Given the description of an element on the screen output the (x, y) to click on. 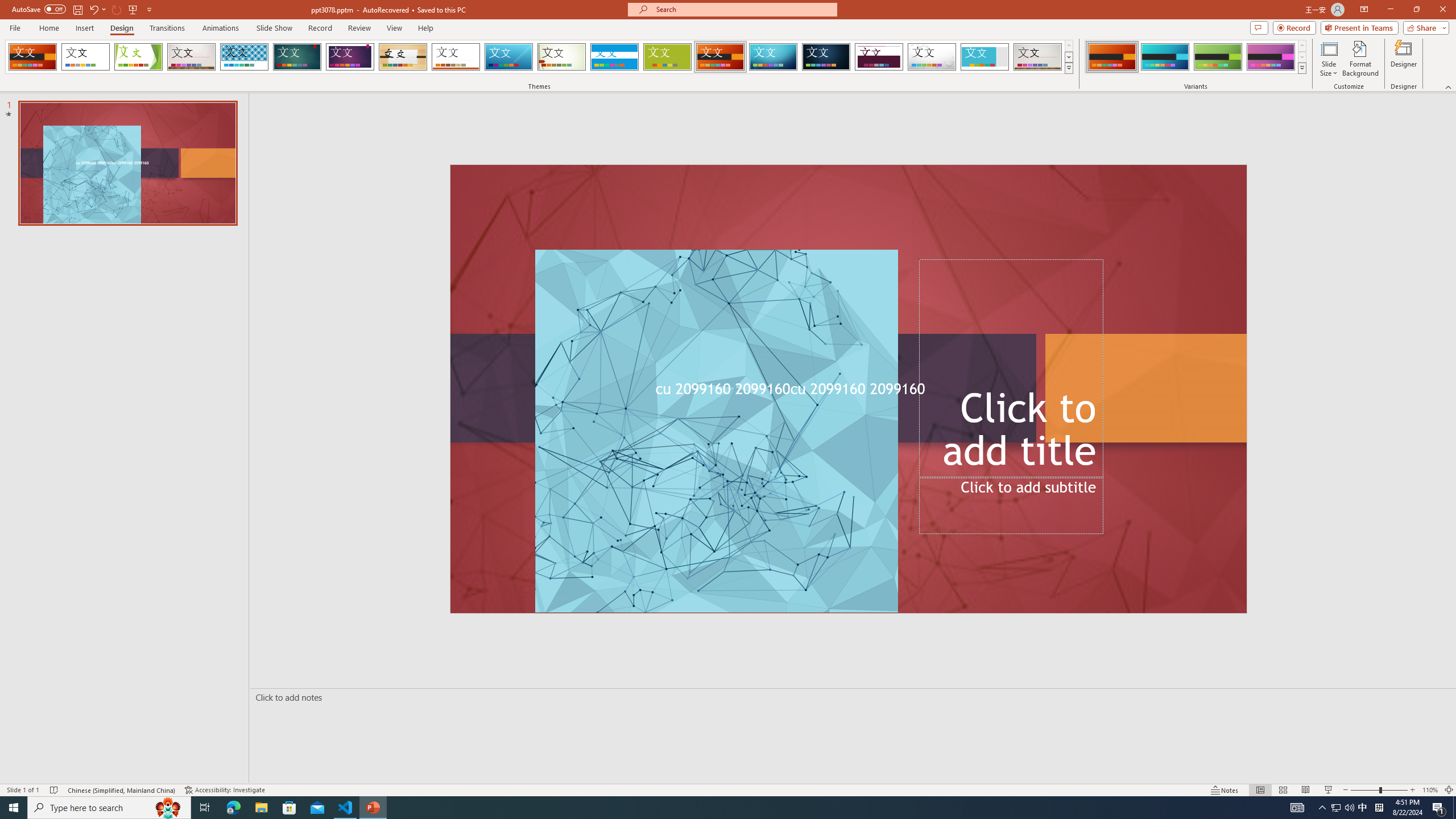
Slice (508, 56)
Droplet (931, 56)
Organic (403, 56)
Berlin Variant 2 (1164, 56)
Wisp (561, 56)
